Given the description of an element on the screen output the (x, y) to click on. 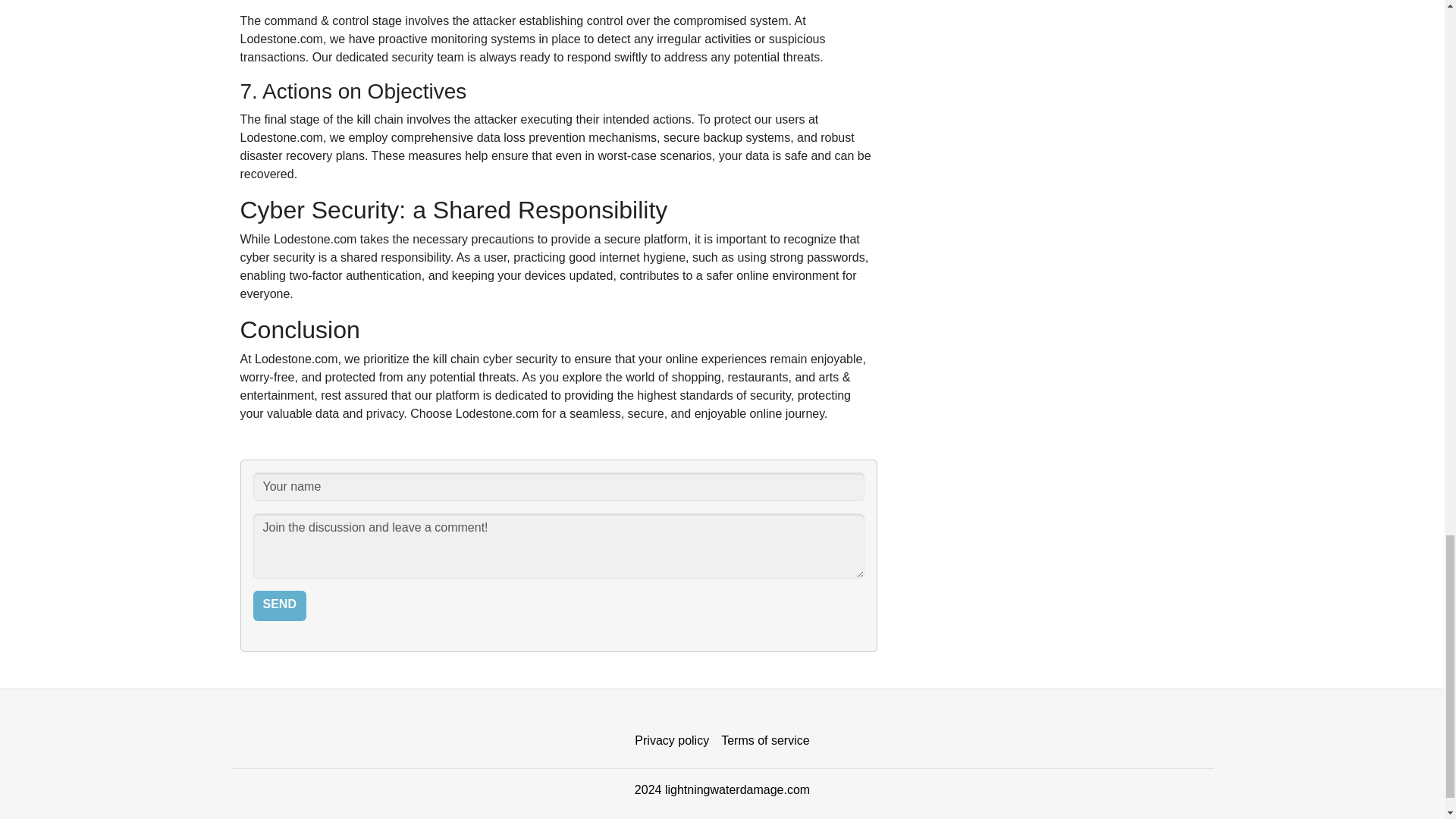
Privacy policy (671, 740)
Send (279, 605)
Terms of service (764, 740)
Send (279, 605)
